Given the description of an element on the screen output the (x, y) to click on. 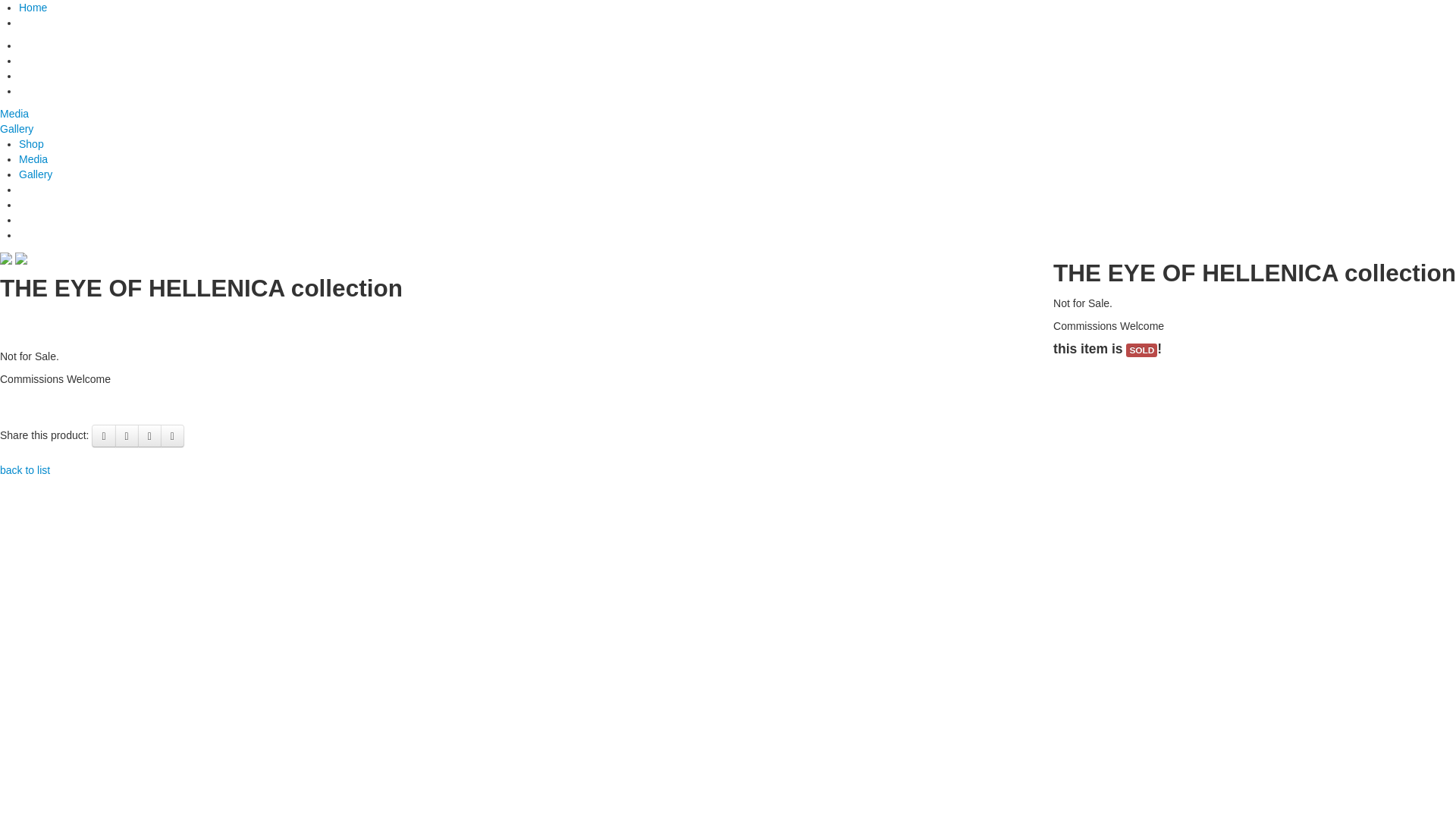
Media Element type: text (32, 159)
post to Twitter Element type: hover (126, 435)
share on Google Plus Element type: hover (149, 435)
Media Element type: text (14, 113)
Gallery Element type: text (35, 174)
Email a friend Element type: hover (172, 435)
Home Element type: text (32, 7)
Gallery Element type: text (16, 128)
Shop Element type: text (30, 144)
back to list Element type: text (25, 470)
share on Facebook Element type: hover (103, 435)
